Given the description of an element on the screen output the (x, y) to click on. 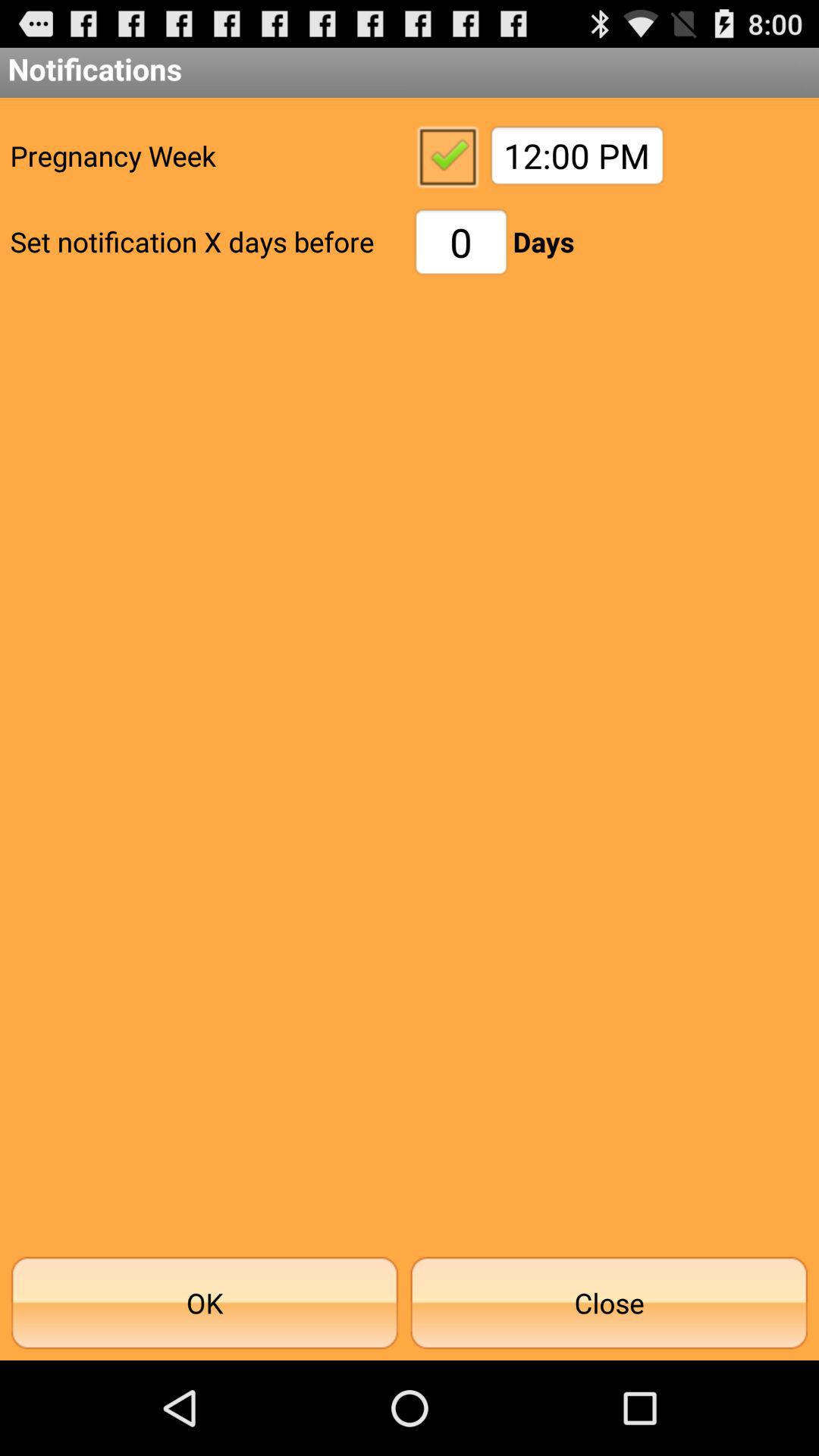
open item above the 0 icon (447, 155)
